Given the description of an element on the screen output the (x, y) to click on. 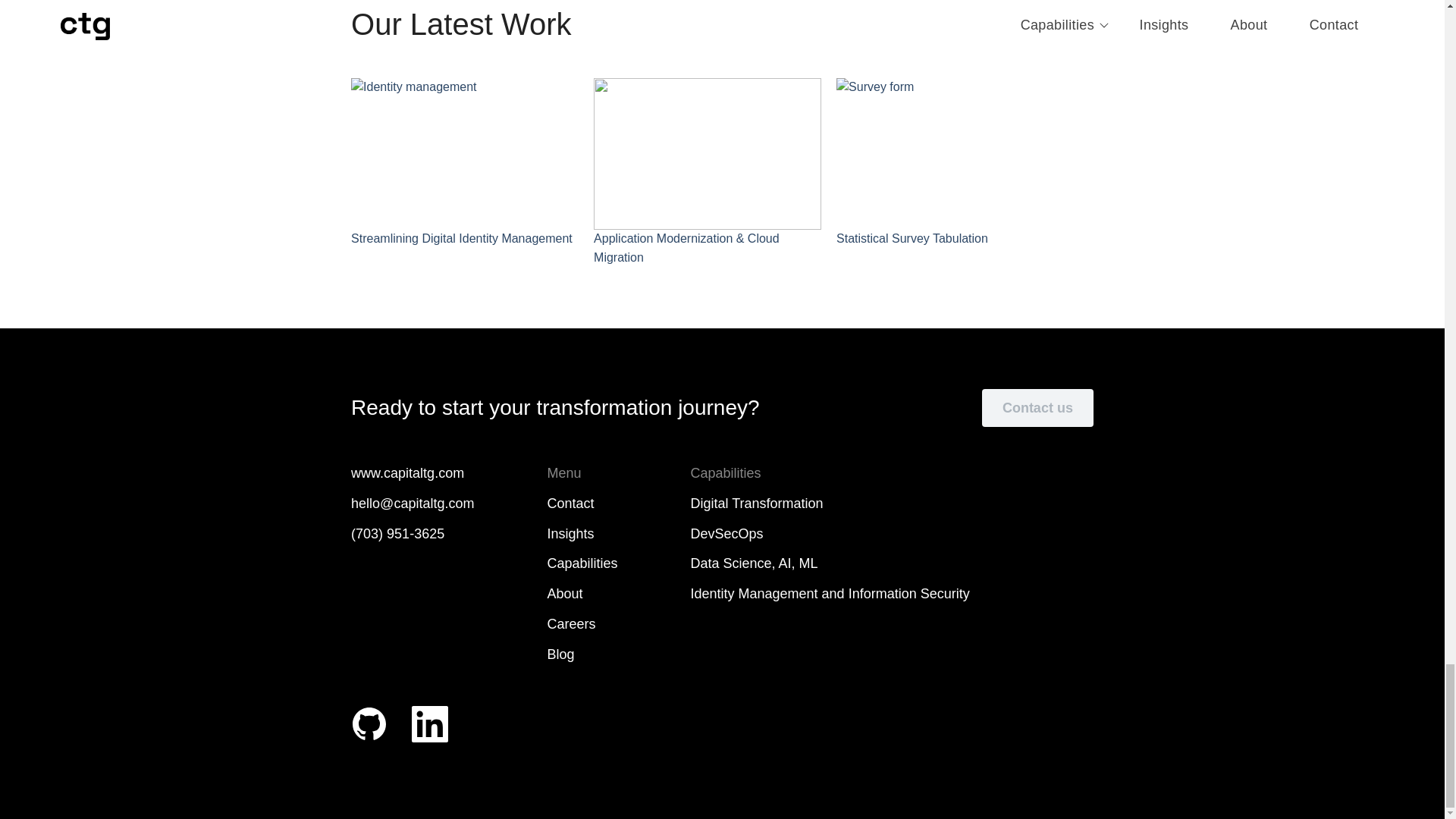
Careers (582, 624)
Digital Transformation (829, 504)
About (582, 594)
Contact (582, 504)
www.capitaltg.com (412, 473)
Contact us (1037, 407)
Insights (582, 534)
Blog (582, 654)
Capabilities (582, 563)
DevSecOps (829, 534)
Statistical Survey Tabulation (949, 162)
Streamlining Digital Identity Management (464, 162)
